Given the description of an element on the screen output the (x, y) to click on. 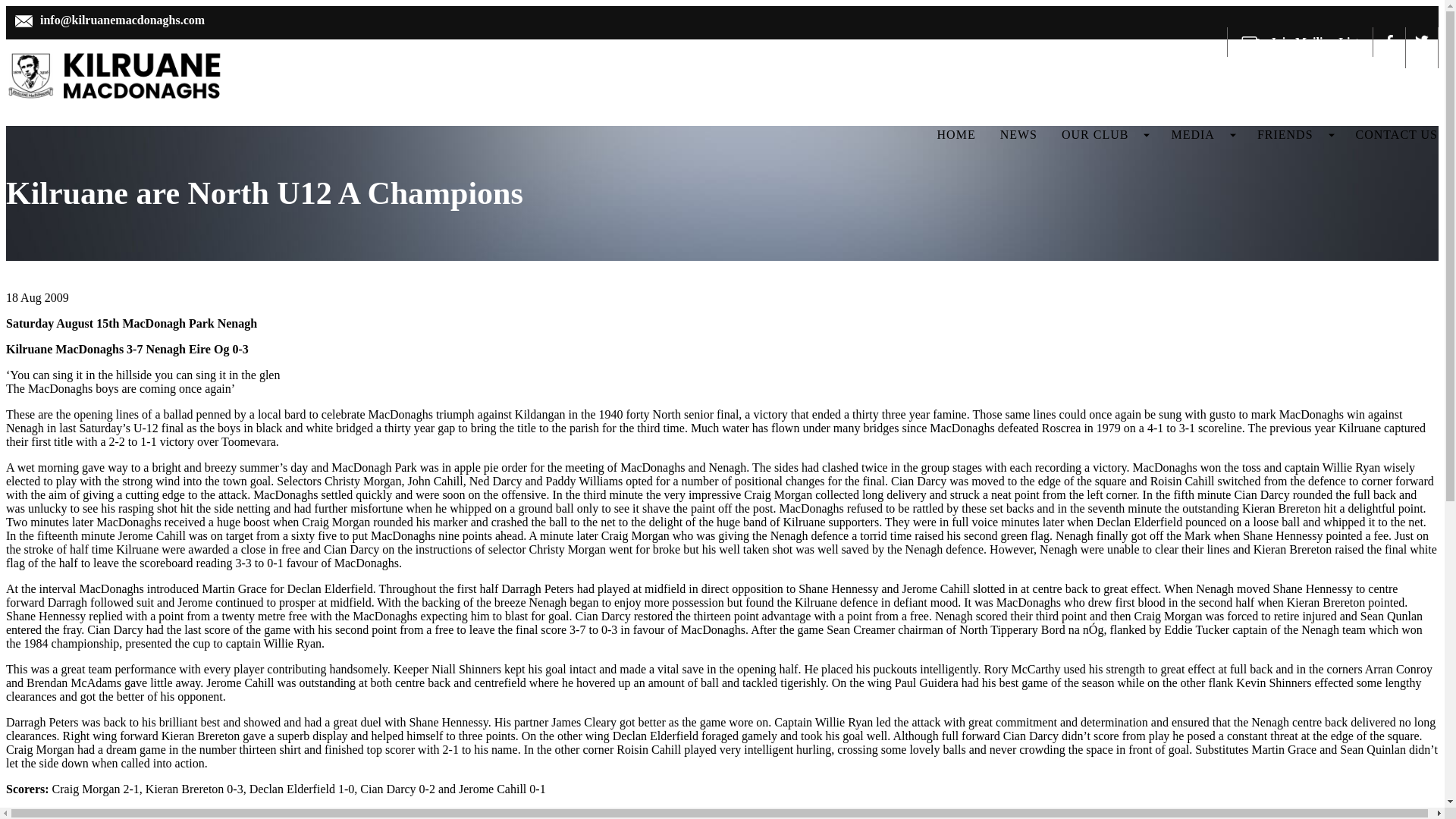
MEDIA (1191, 134)
OUR CLUB (1094, 134)
Join Mailing List (1300, 41)
FRIENDS (1284, 134)
MacDonaghs on Twitter (1422, 40)
NEWS (1018, 134)
HOME (956, 134)
